Given the description of an element on the screen output the (x, y) to click on. 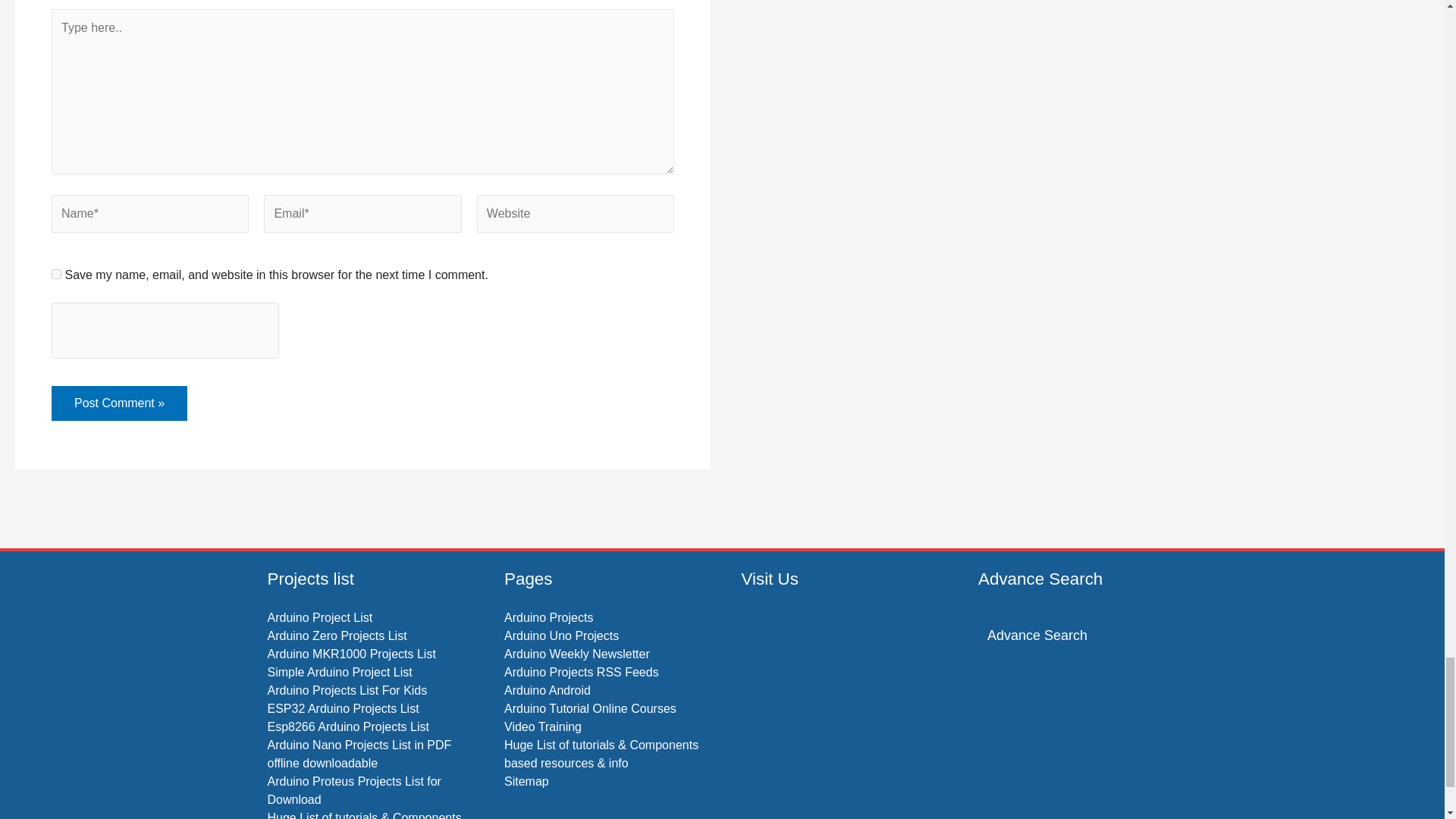
yes (55, 274)
